Given the description of an element on the screen output the (x, y) to click on. 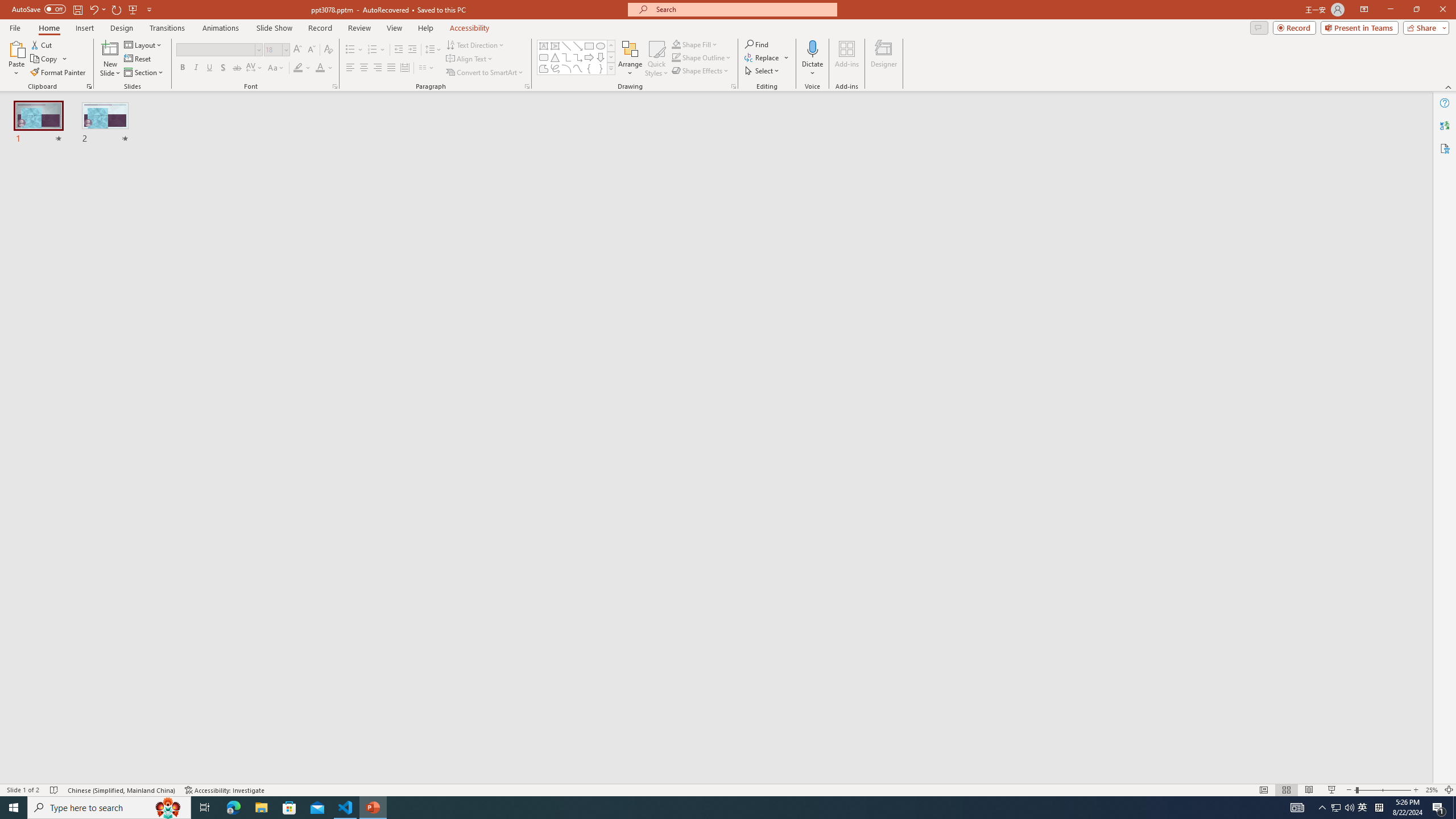
Gmail (362, 78)
icon (976, 114)
copilot-notconnected, Copilot error (click for details) (1001, 766)
Copilot (Ctrl+Shift+.) (1434, 46)
Go Forward (Alt+RightArrow) (370, 150)
